Given the description of an element on the screen output the (x, y) to click on. 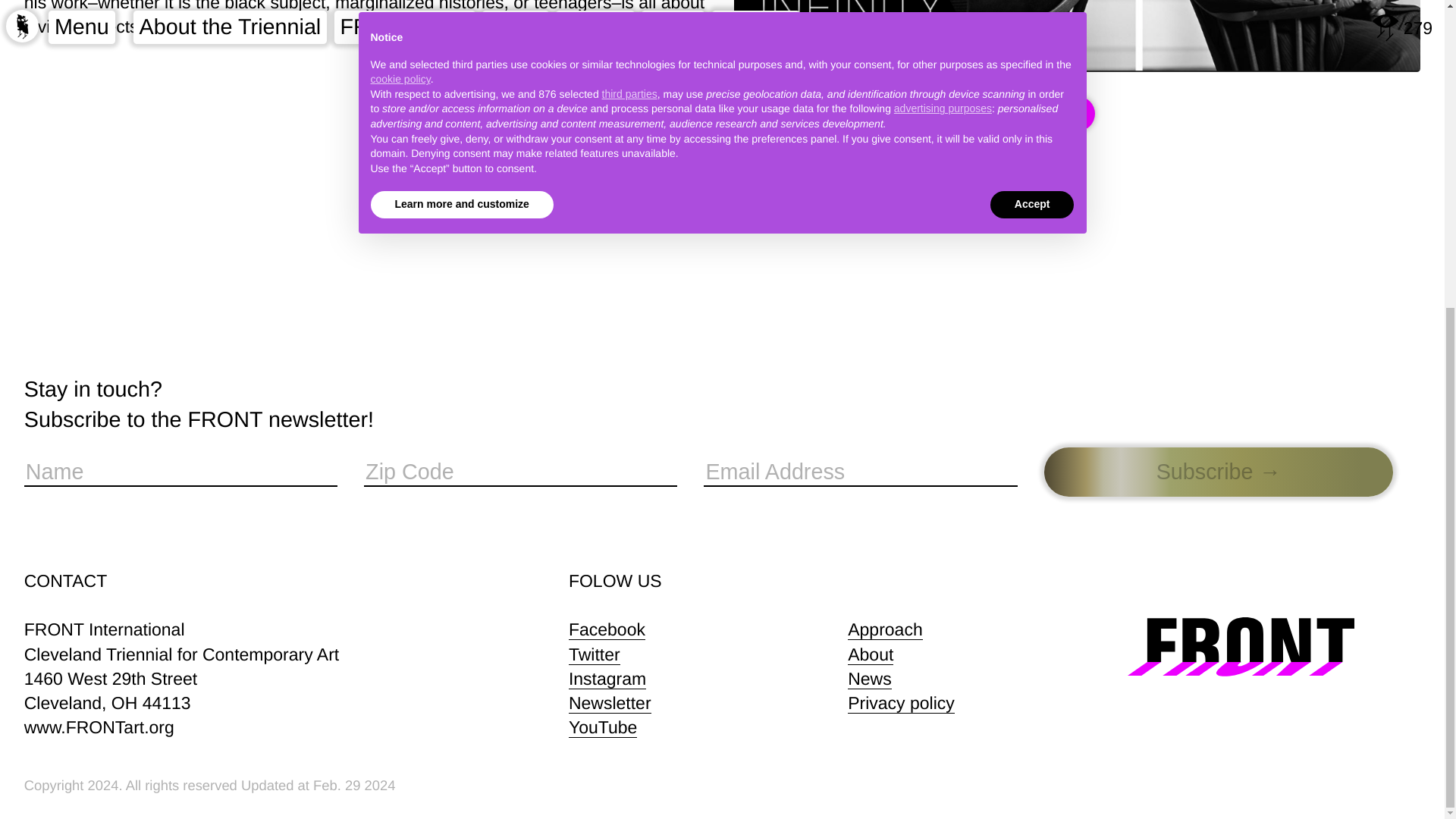
Twitter (594, 654)
Privacy policy (901, 702)
Approach (884, 629)
YouTube (603, 727)
Instagram (607, 679)
www.FRONTart.org (99, 727)
About (870, 654)
Facebook (607, 629)
News (869, 679)
Newsletter (609, 702)
